Given the description of an element on the screen output the (x, y) to click on. 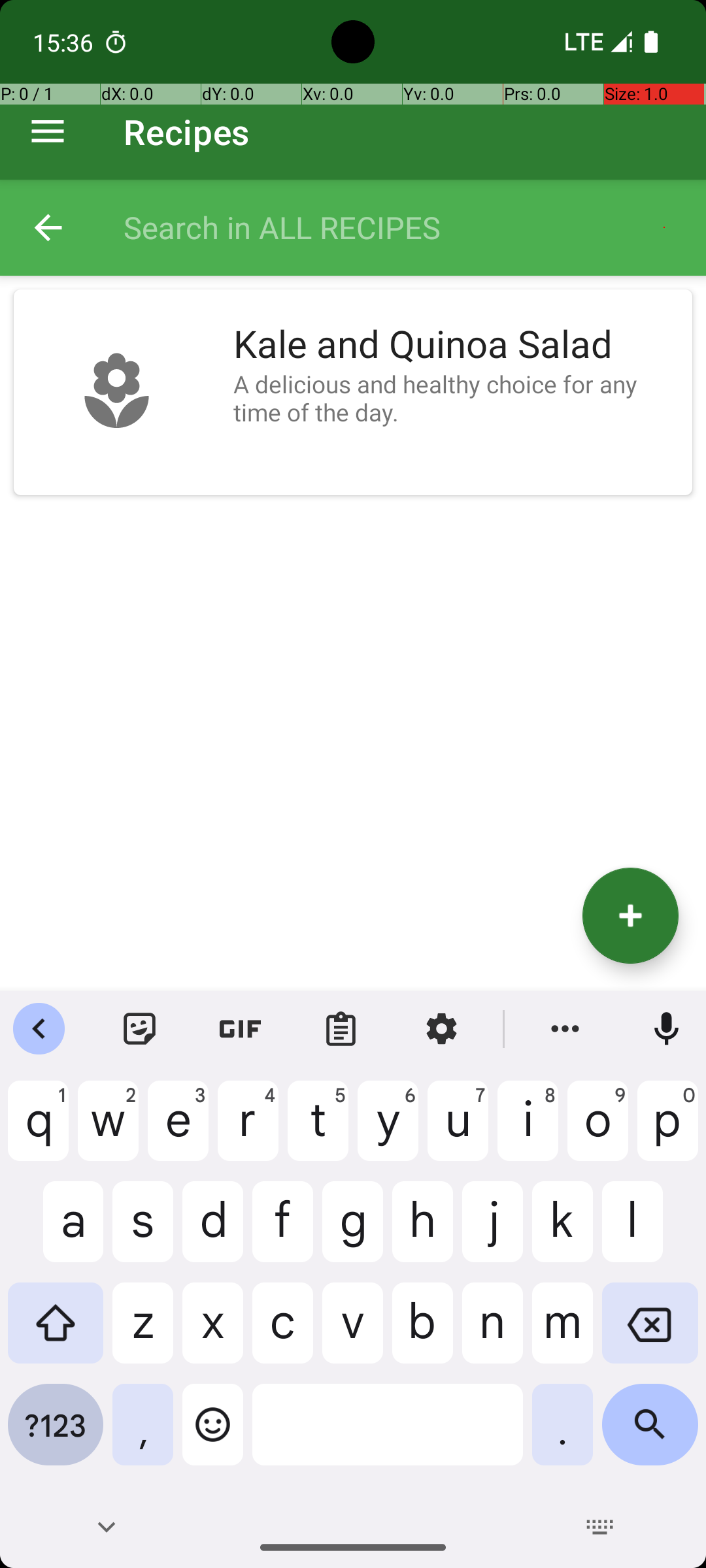
Search in ALL RECIPES Element type: android.widget.AutoCompleteTextView (400, 227)
15:36 Element type: android.widget.TextView (64, 41)
